Given the description of an element on the screen output the (x, y) to click on. 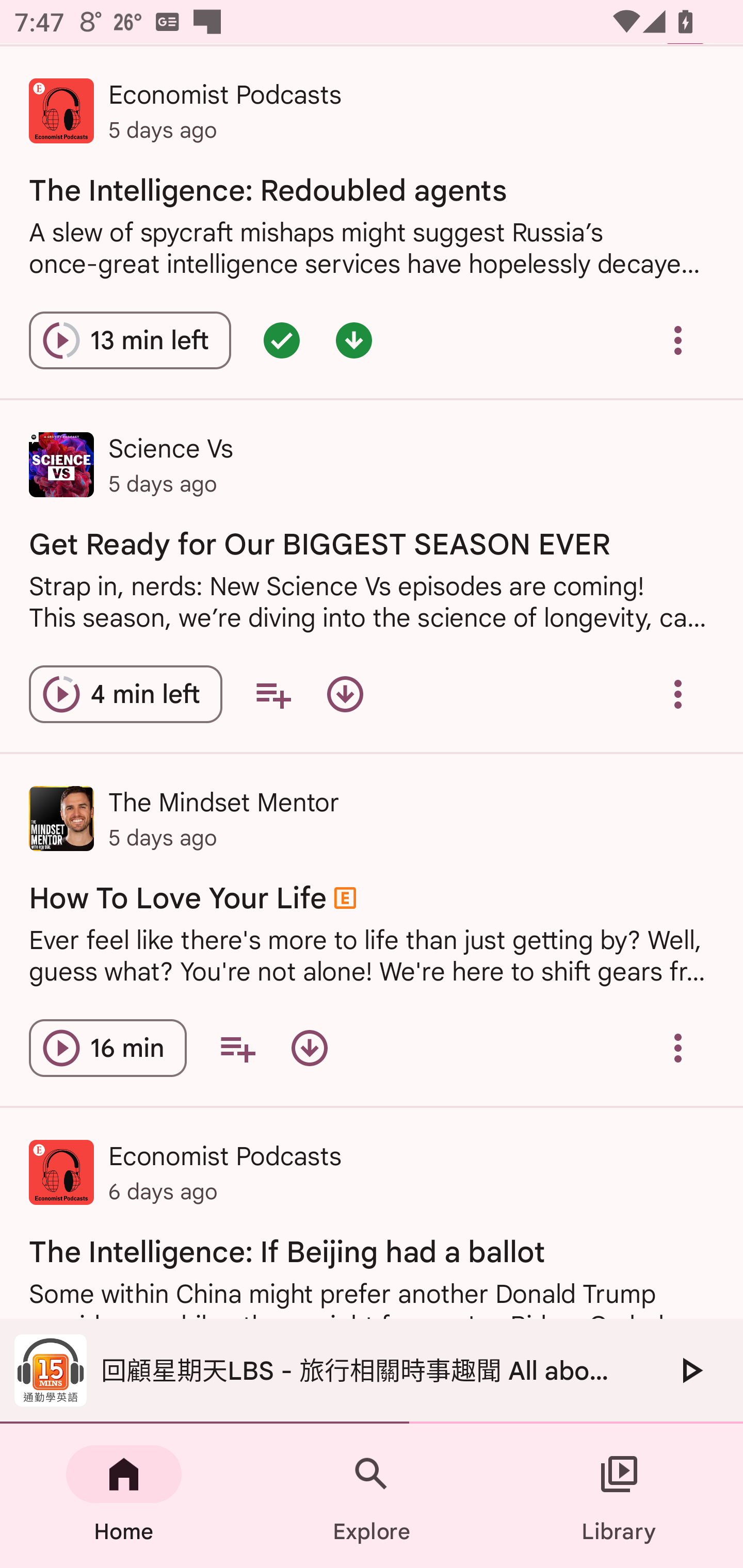
Episode queued - double tap for options (281, 340)
Episode downloaded - double tap for options (354, 340)
Overflow menu (677, 340)
Add to your queue (273, 693)
Download episode (345, 693)
Overflow menu (677, 693)
Play episode How To Love Your Life 16 min (107, 1048)
Add to your queue (237, 1048)
Download episode (309, 1048)
Overflow menu (677, 1048)
Play (690, 1370)
Explore (371, 1495)
Library (619, 1495)
